Given the description of an element on the screen output the (x, y) to click on. 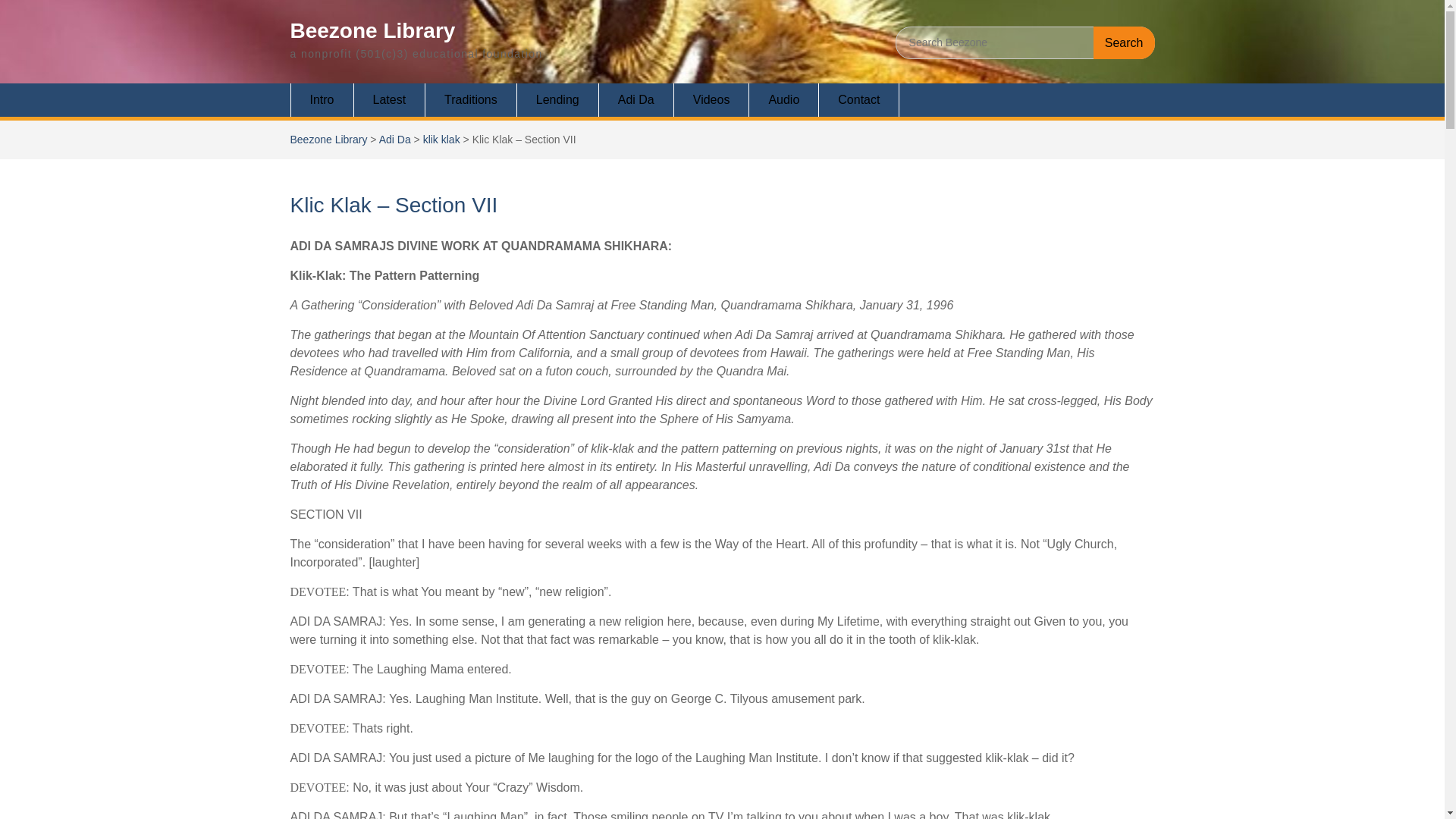
Search (1123, 42)
Adi Da (636, 100)
Intro (321, 100)
Lending (557, 100)
klik klak (441, 139)
Latest (389, 100)
Audio (783, 100)
Beezone Library (371, 30)
Contact (858, 100)
Videos (711, 100)
Search (1123, 42)
Adi Da (394, 139)
Beezone Library (327, 139)
Traditions (470, 100)
Search (1123, 42)
